Given the description of an element on the screen output the (x, y) to click on. 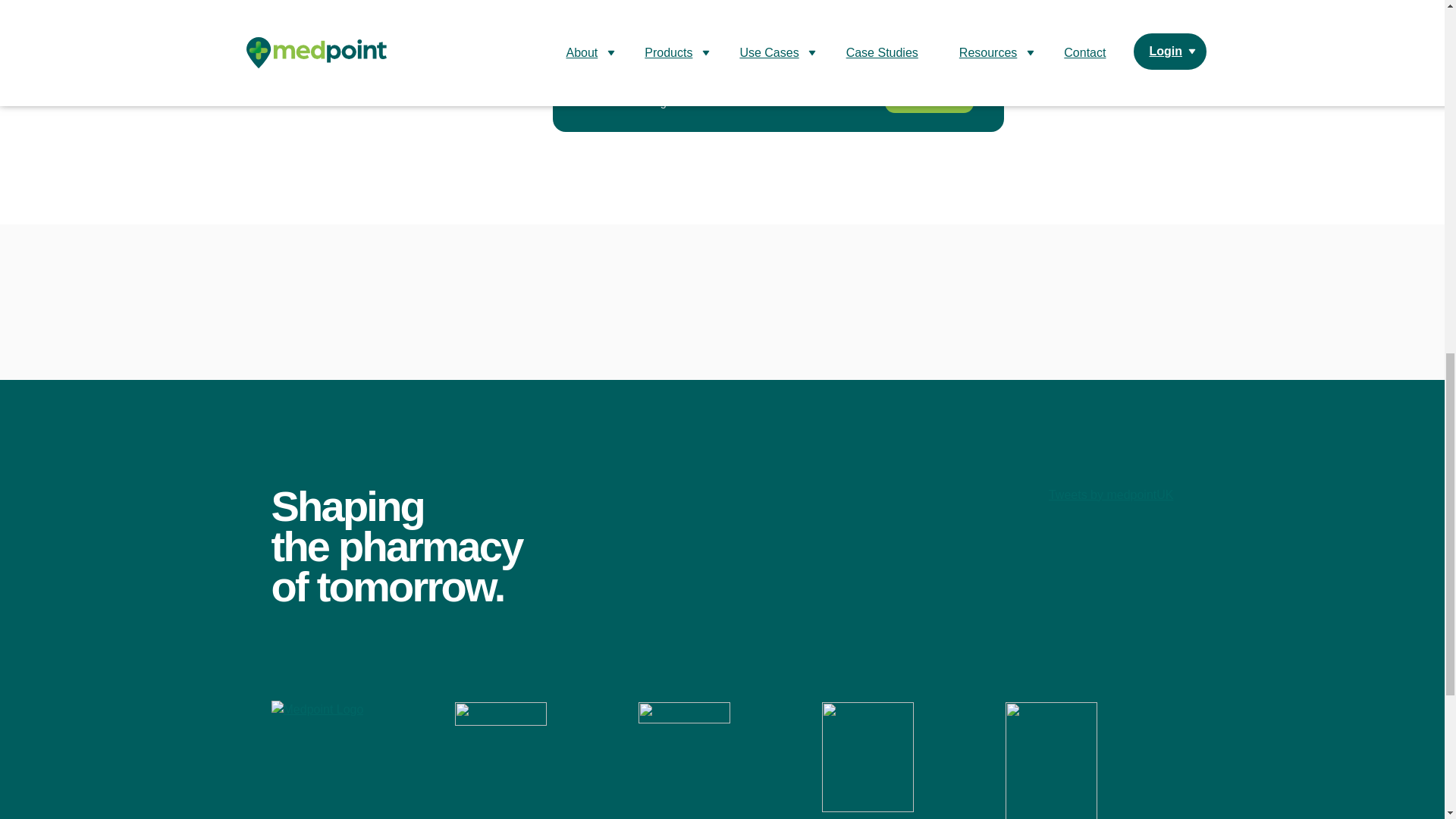
Tweets by medpointUK (1110, 494)
Contact Us (927, 95)
ISO 27001 (1051, 756)
